Given the description of an element on the screen output the (x, y) to click on. 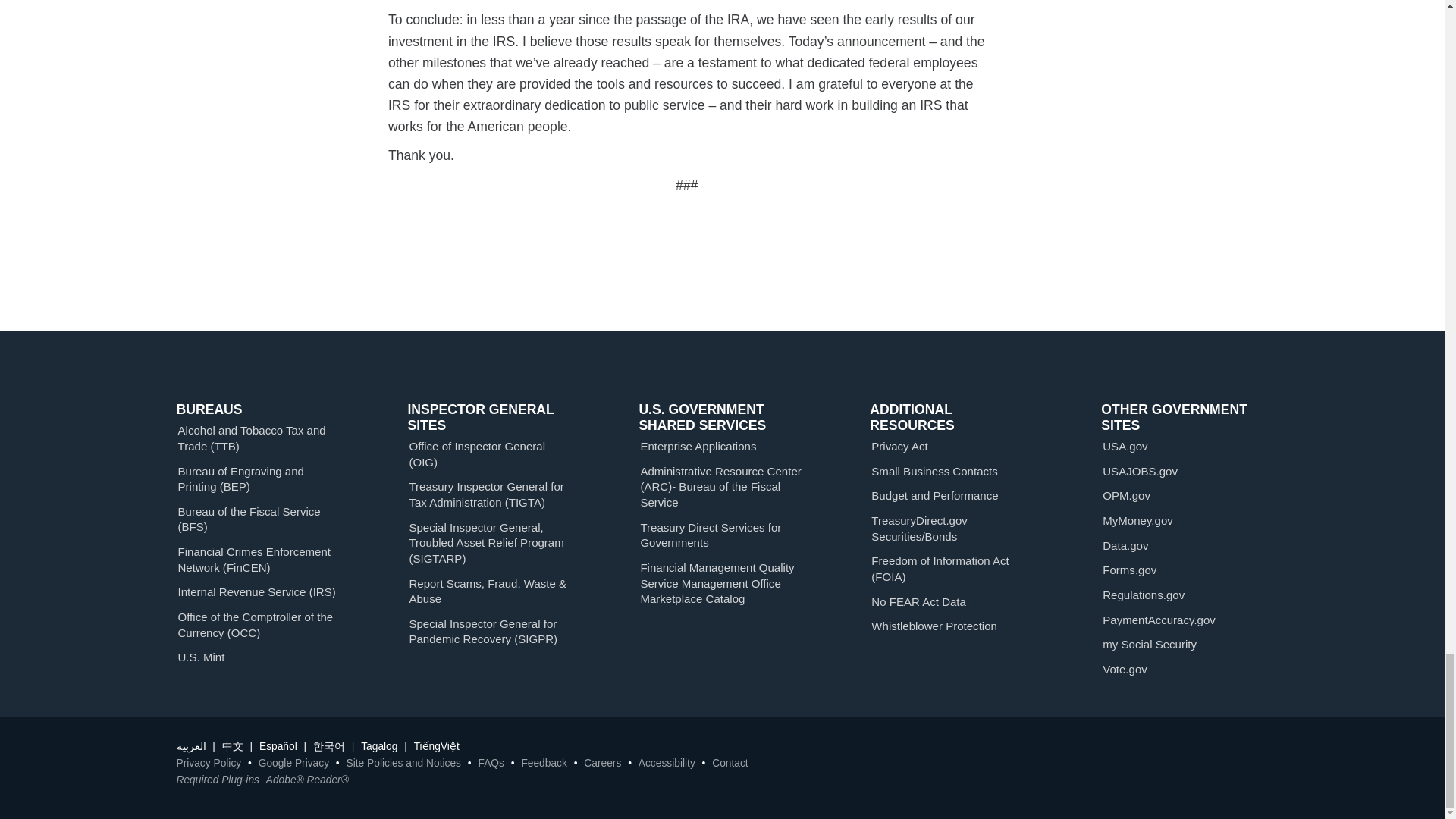
Arabic (190, 746)
Korean (329, 746)
Spanish (278, 746)
Tagalog (379, 746)
Site Policies and Notices (403, 763)
Vietnamese (436, 746)
Privacy Policy (208, 763)
FAQs (490, 763)
Chinese (232, 746)
Feedback (543, 763)
